Given the description of an element on the screen output the (x, y) to click on. 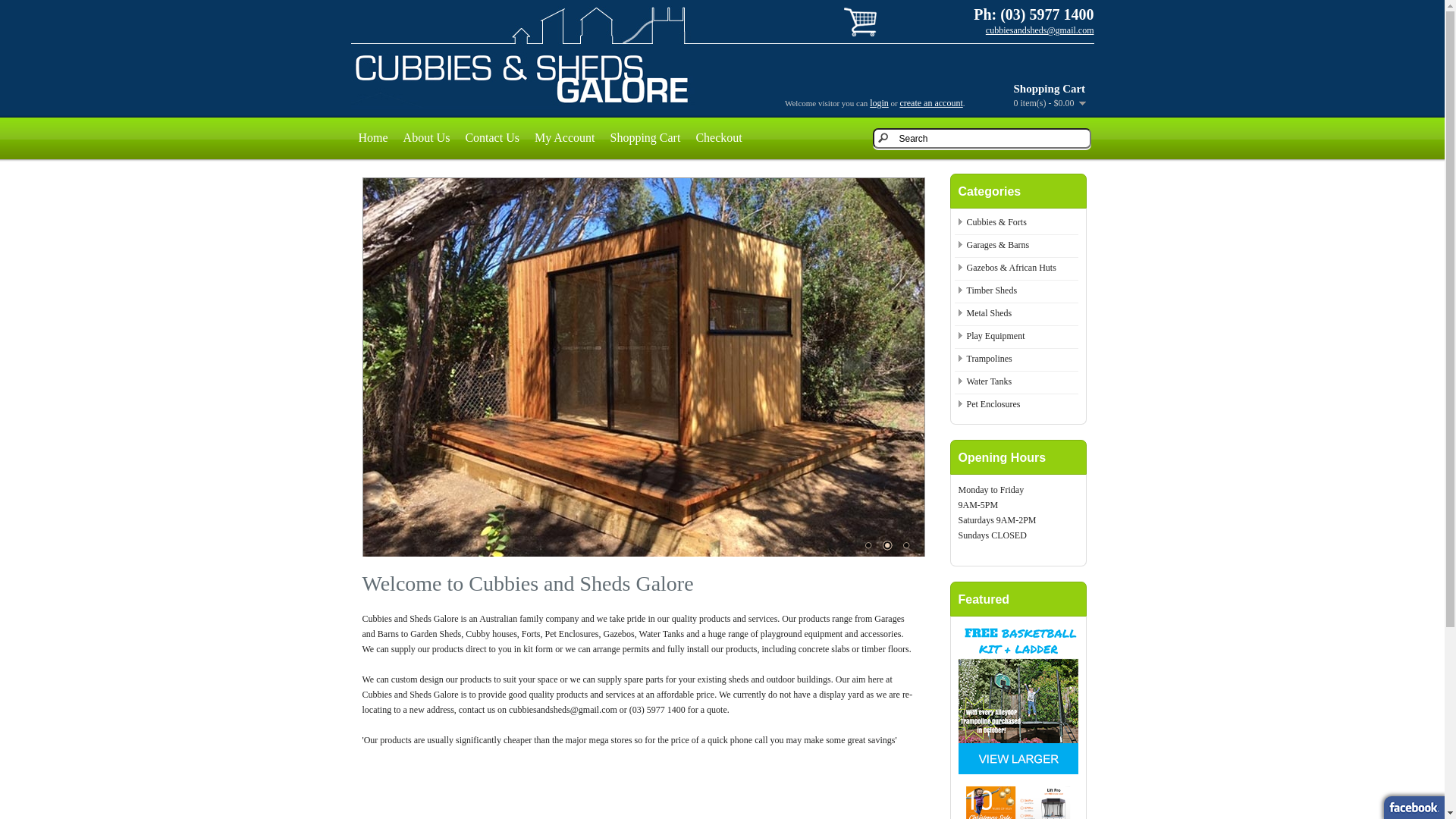
Contact Us Element type: text (492, 137)
Trampolines Element type: text (988, 358)
1 Element type: text (867, 544)
create an account Element type: text (930, 102)
Home Element type: text (372, 137)
cubbiesandsheds@gmail.com Element type: text (1039, 30)
Gazebos & African Huts Element type: text (1010, 267)
2 Element type: text (886, 544)
My Account Element type: text (564, 137)
About Us Element type: text (426, 137)
Checkout Element type: text (718, 137)
Cubbies and Sheds Galore Element type: hover (521, 77)
3 Element type: text (905, 544)
Play Equipment Element type: text (995, 335)
Timber Sheds Element type: text (991, 290)
Search Element type: text (981, 138)
login Element type: text (878, 102)
Water Tanks Element type: text (988, 381)
Garages & Barns Element type: text (997, 244)
Metal Sheds Element type: text (988, 312)
Shopping Cart Element type: text (644, 137)
Pet Enclosures Element type: text (992, 403)
0 item(s) - $0.00 Element type: text (1049, 102)
Cubbies & Forts Element type: text (996, 221)
